Given the description of an element on the screen output the (x, y) to click on. 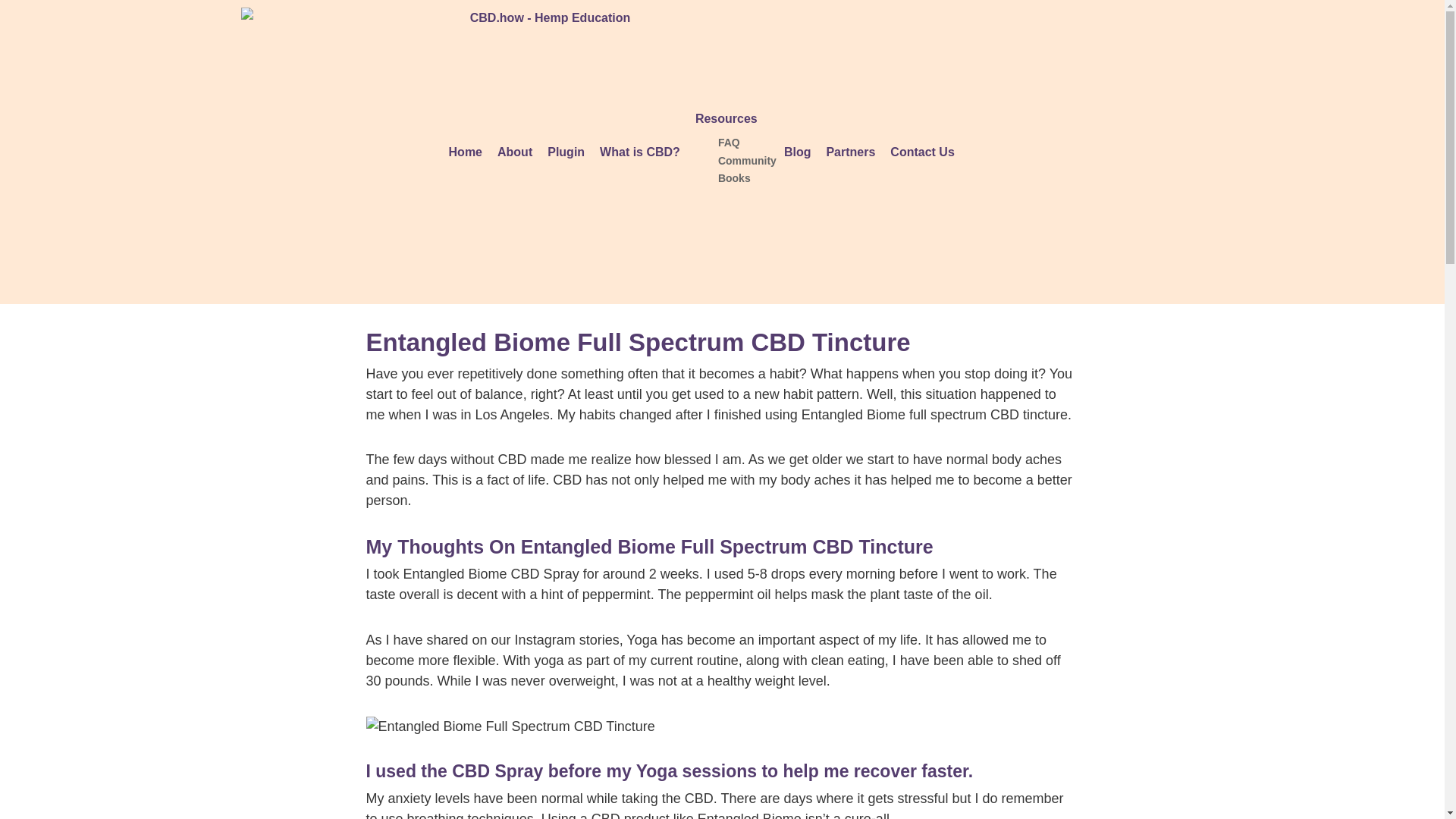
Books (734, 177)
Blog (797, 151)
Home (465, 151)
Plugin (566, 151)
Partners (850, 151)
Contact Us (921, 151)
Resources (731, 119)
FAQ (728, 142)
Community (746, 160)
What is CBD? (639, 151)
About (514, 151)
